Given the description of an element on the screen output the (x, y) to click on. 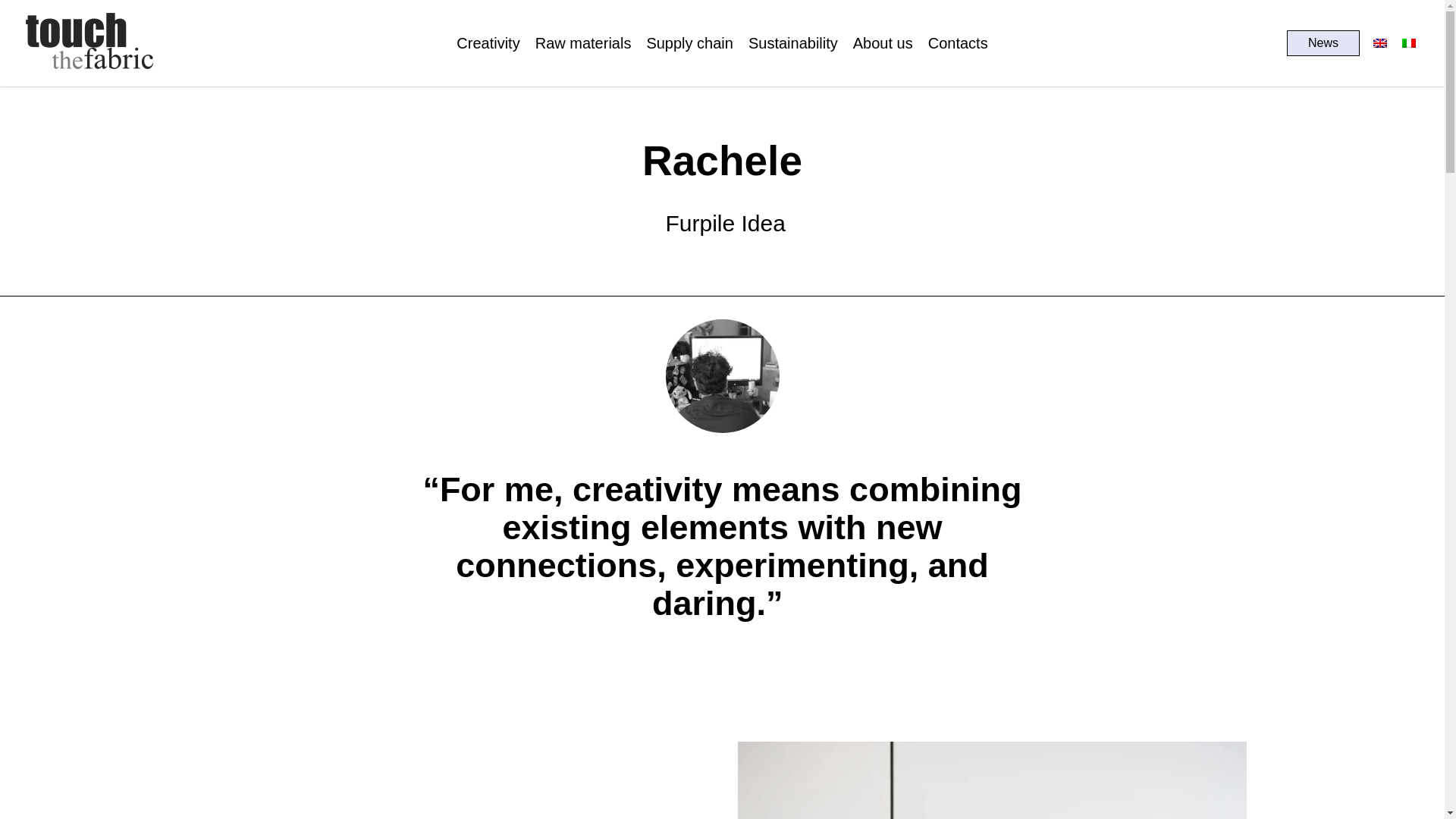
Supply chain (689, 43)
About us (882, 43)
Sustainability (793, 43)
touchthefabric.it (90, 71)
Creativity (488, 43)
News (1323, 43)
Raw materials (583, 43)
Contacts (958, 43)
